Given the description of an element on the screen output the (x, y) to click on. 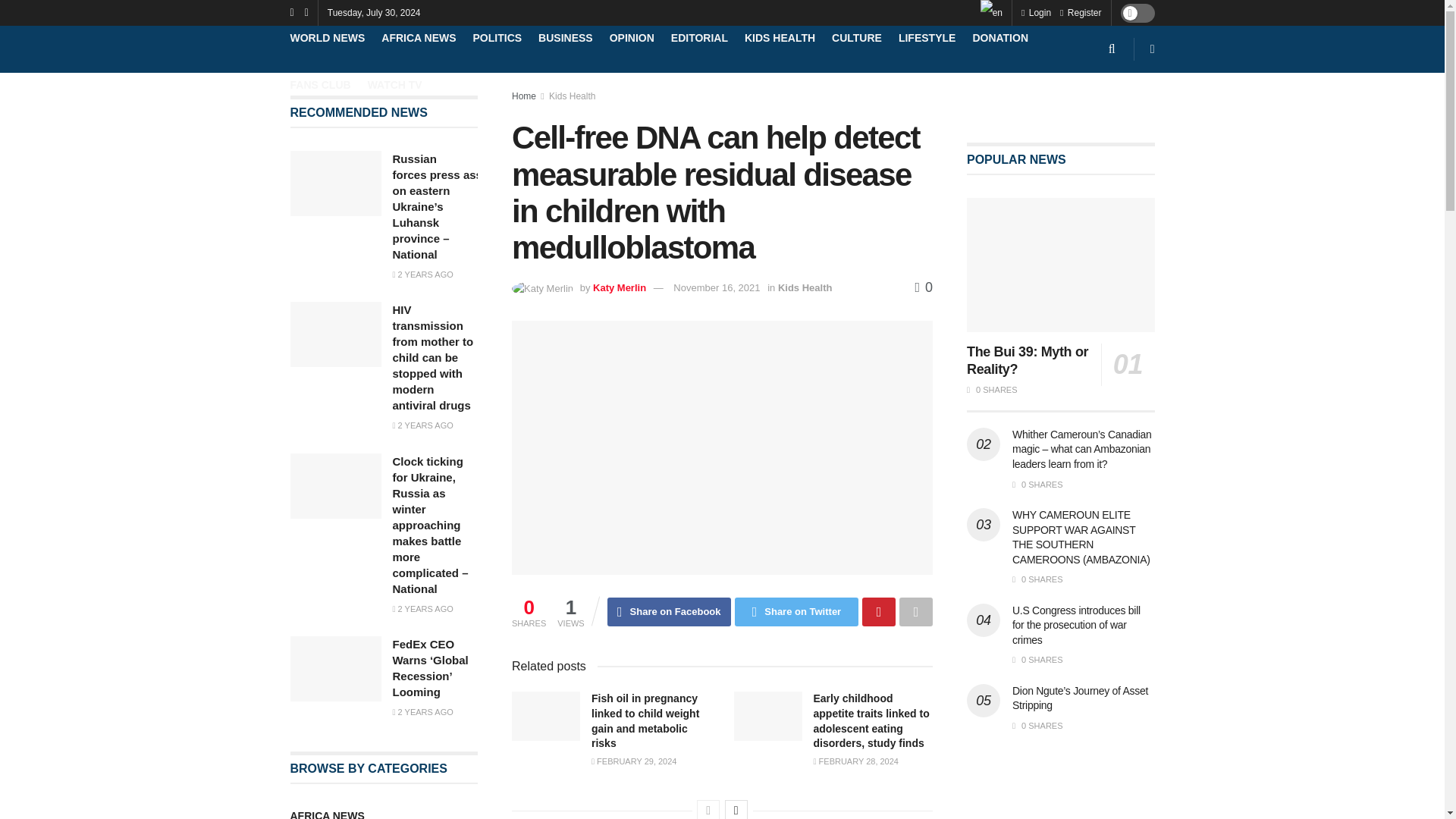
WATCH TV (395, 84)
POLITICS (497, 37)
DONATION (999, 37)
BUSINESS (565, 37)
Kids Health (571, 95)
LIFESTYLE (926, 37)
Katy Merlin (619, 287)
WORLD NEWS (327, 37)
Login (1036, 12)
CULTURE (856, 37)
AFRICA NEWS (418, 37)
Previous (708, 809)
FANS CLUB (319, 84)
Share on Facebook (668, 611)
Next (736, 809)
